Given the description of an element on the screen output the (x, y) to click on. 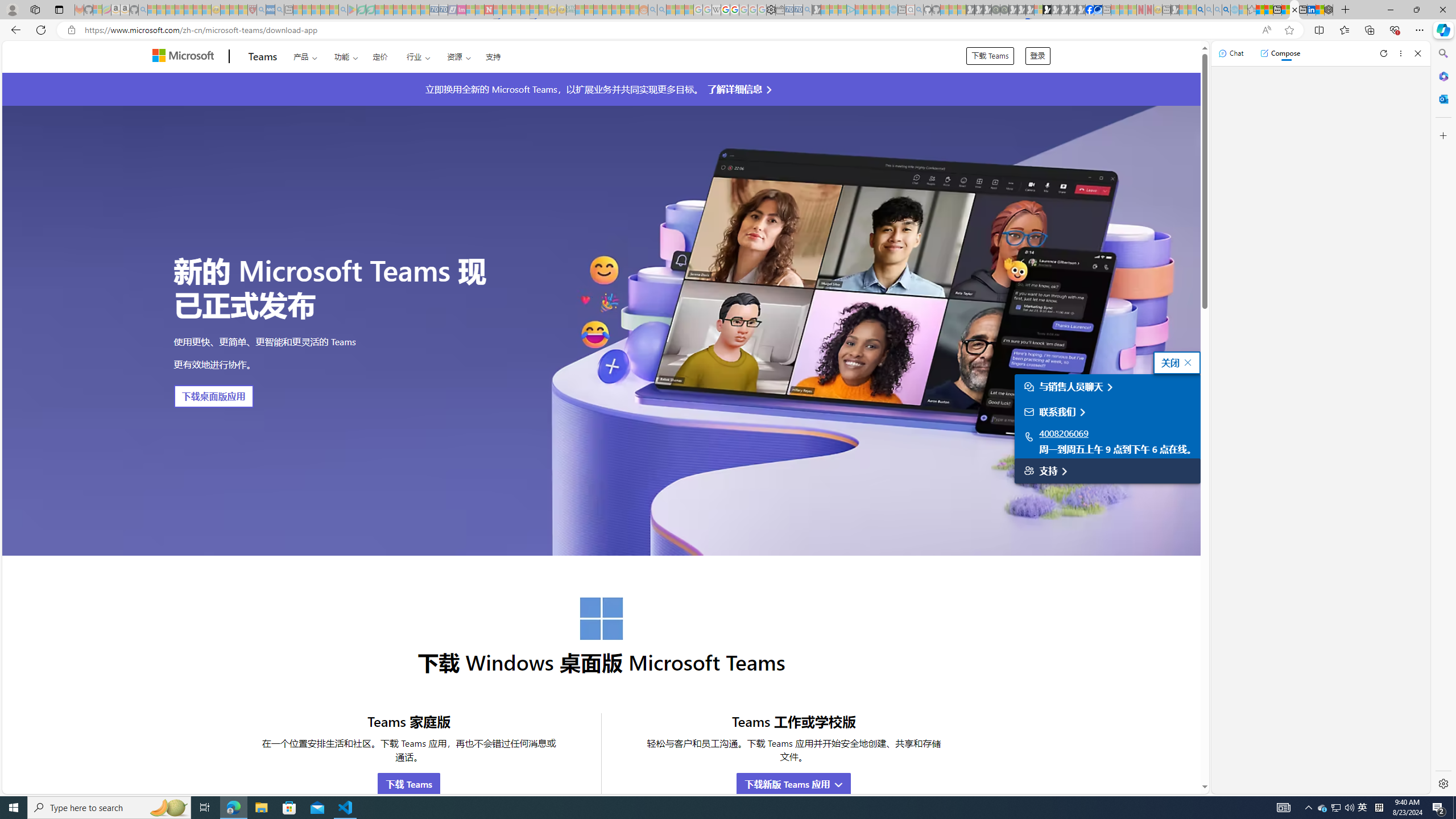
Aberdeen, Hong Kong SAR weather forecast | Microsoft Weather (1268, 9)
